Given the description of an element on the screen output the (x, y) to click on. 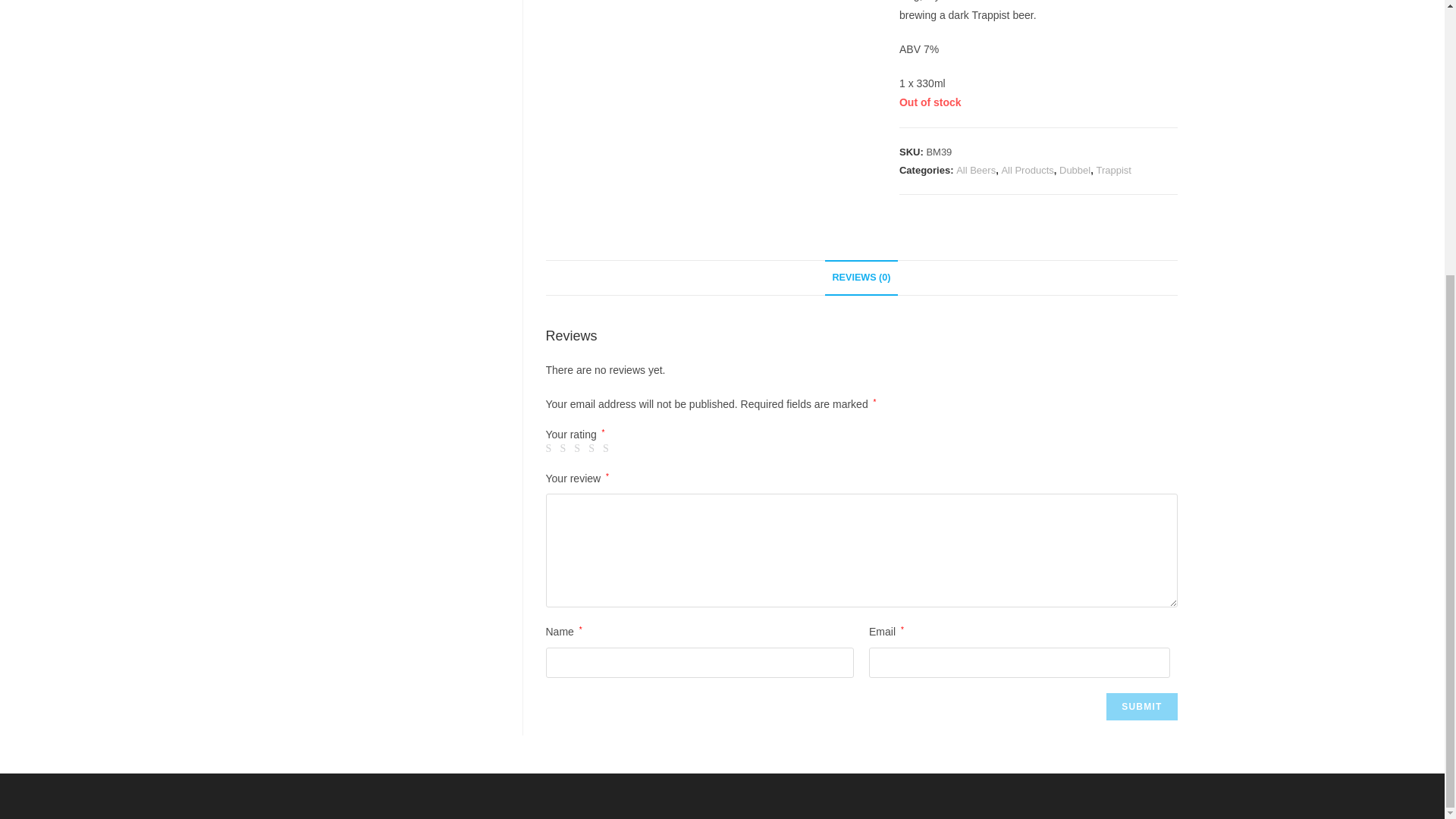
4 (593, 448)
All Beers (975, 170)
Dubbel (1074, 170)
Submit (1141, 706)
Trappist (1113, 170)
All Products (1026, 170)
3 (579, 448)
1 (551, 448)
2 (564, 448)
